Given the description of an element on the screen output the (x, y) to click on. 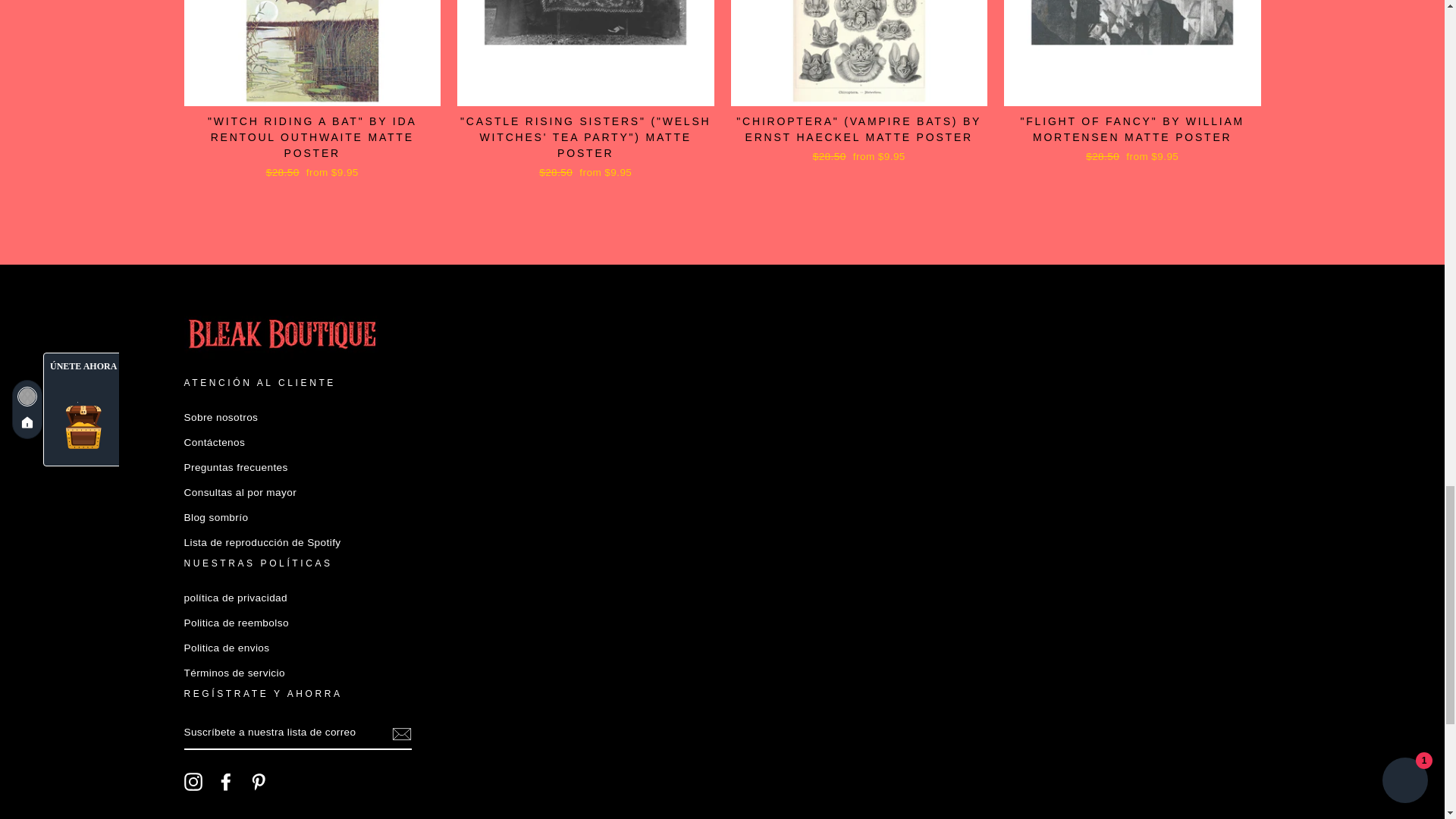
Bleak Boutique en Instagram (192, 782)
Bleak Boutique en Pinterest (257, 782)
Bleak Boutique en Facebook (225, 782)
